Given the description of an element on the screen output the (x, y) to click on. 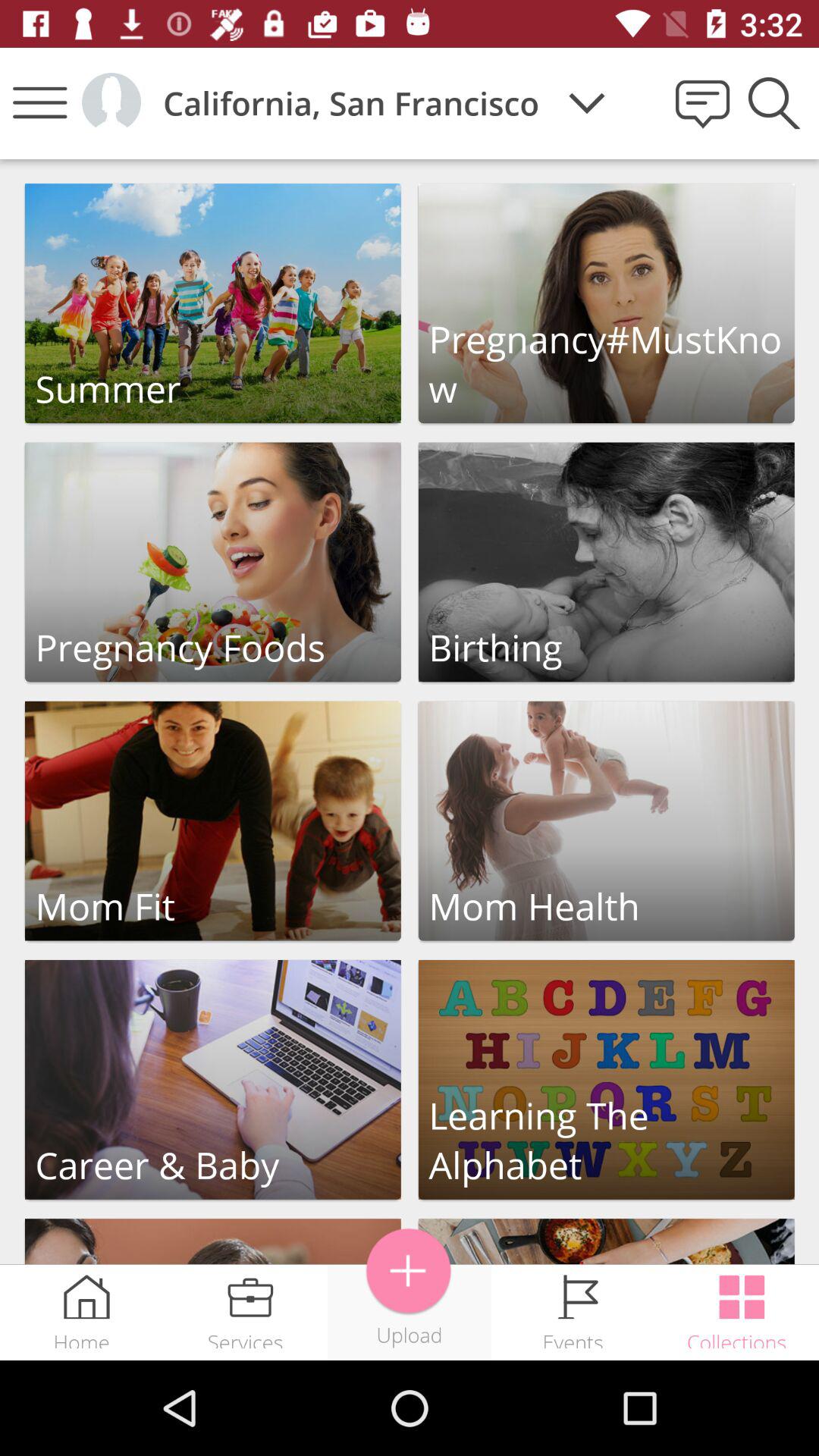
open item to the right of the services (408, 1271)
